Given the description of an element on the screen output the (x, y) to click on. 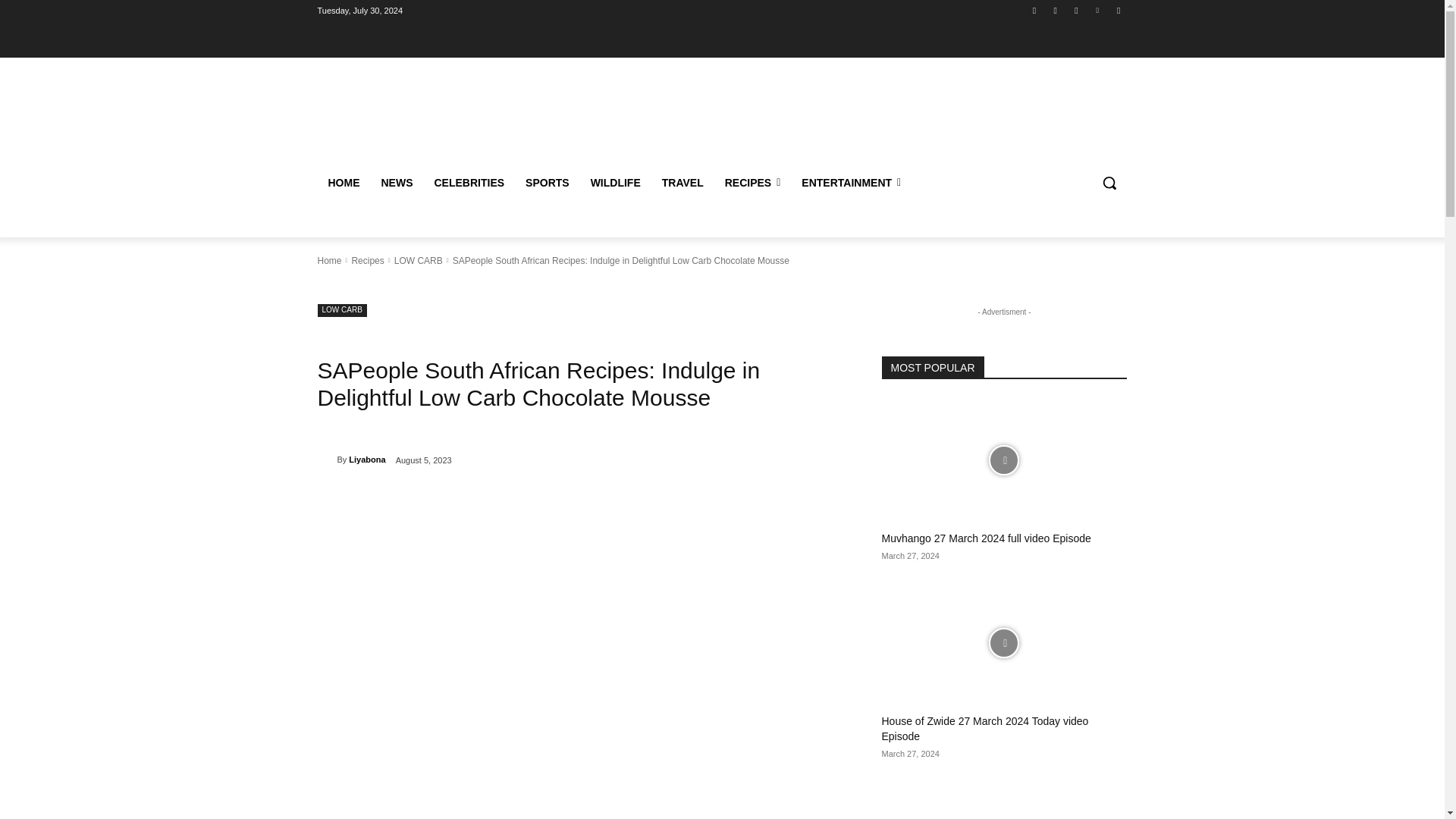
Youtube (1117, 9)
Twitter (1075, 9)
Facebook (1034, 9)
Vimeo (1097, 9)
Instagram (1055, 9)
